Given the description of an element on the screen output the (x, y) to click on. 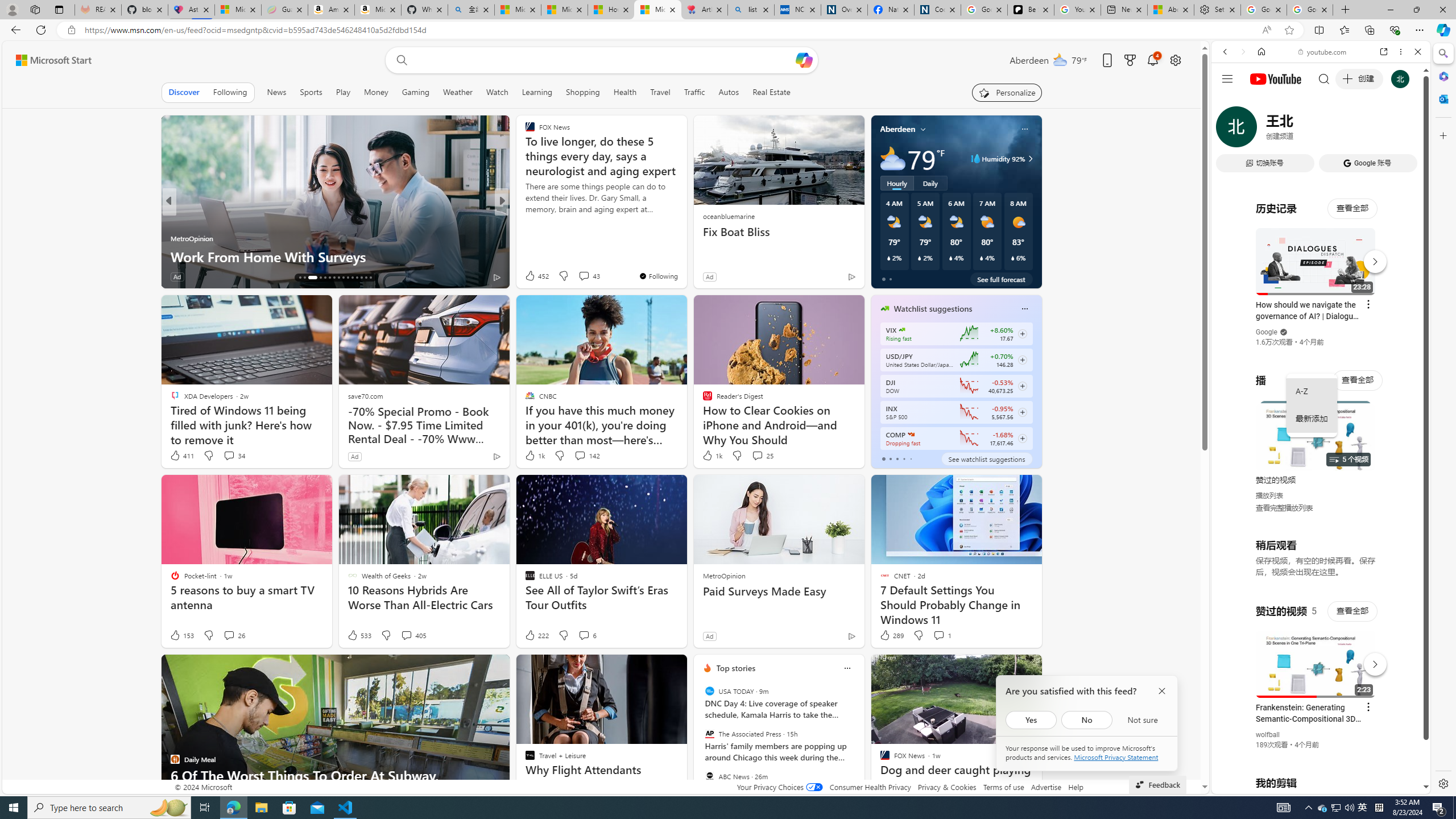
Asthma Inhalers: Names and Types (191, 9)
Close Customize pane (1442, 135)
youtube.com (1322, 51)
YouTube (1315, 655)
Search Filter, WEB (1230, 129)
View comments 89 Comment (234, 276)
View comments 26 Comment (233, 634)
News (276, 92)
Watch (496, 92)
AutomationID: tab-22 (333, 277)
FOX News (524, 219)
Aberdeen, Hong Kong SAR hourly forecast | Microsoft Weather (1170, 9)
